Given the description of an element on the screen output the (x, y) to click on. 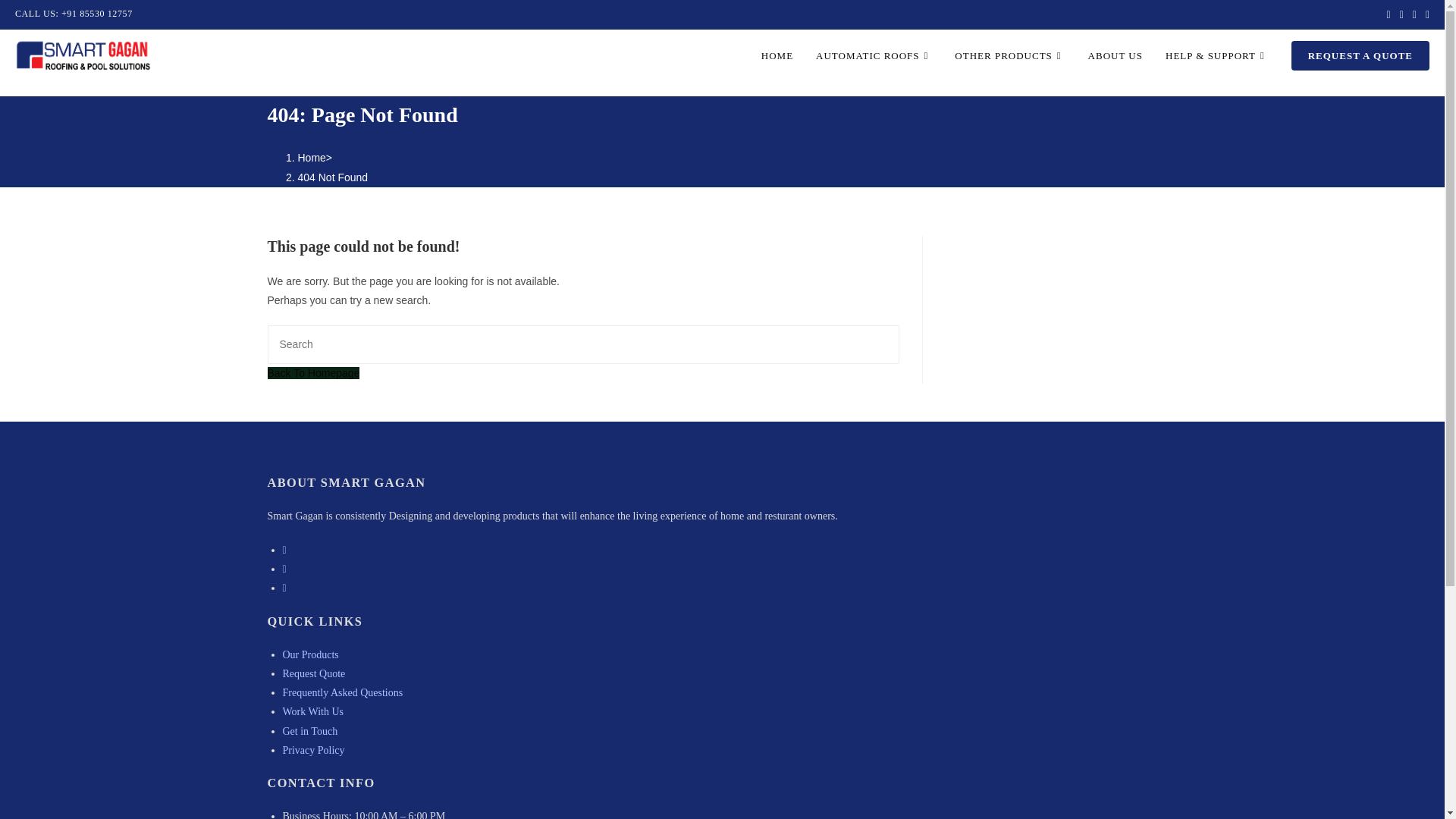
ABOUT US (1115, 55)
Our Products (309, 654)
Home (310, 157)
Back To Homepage (312, 372)
REQUEST A QUOTE (1360, 55)
HOME (777, 55)
OTHER PRODUCTS (1009, 55)
AUTOMATIC ROOFS (874, 55)
